Given the description of an element on the screen output the (x, y) to click on. 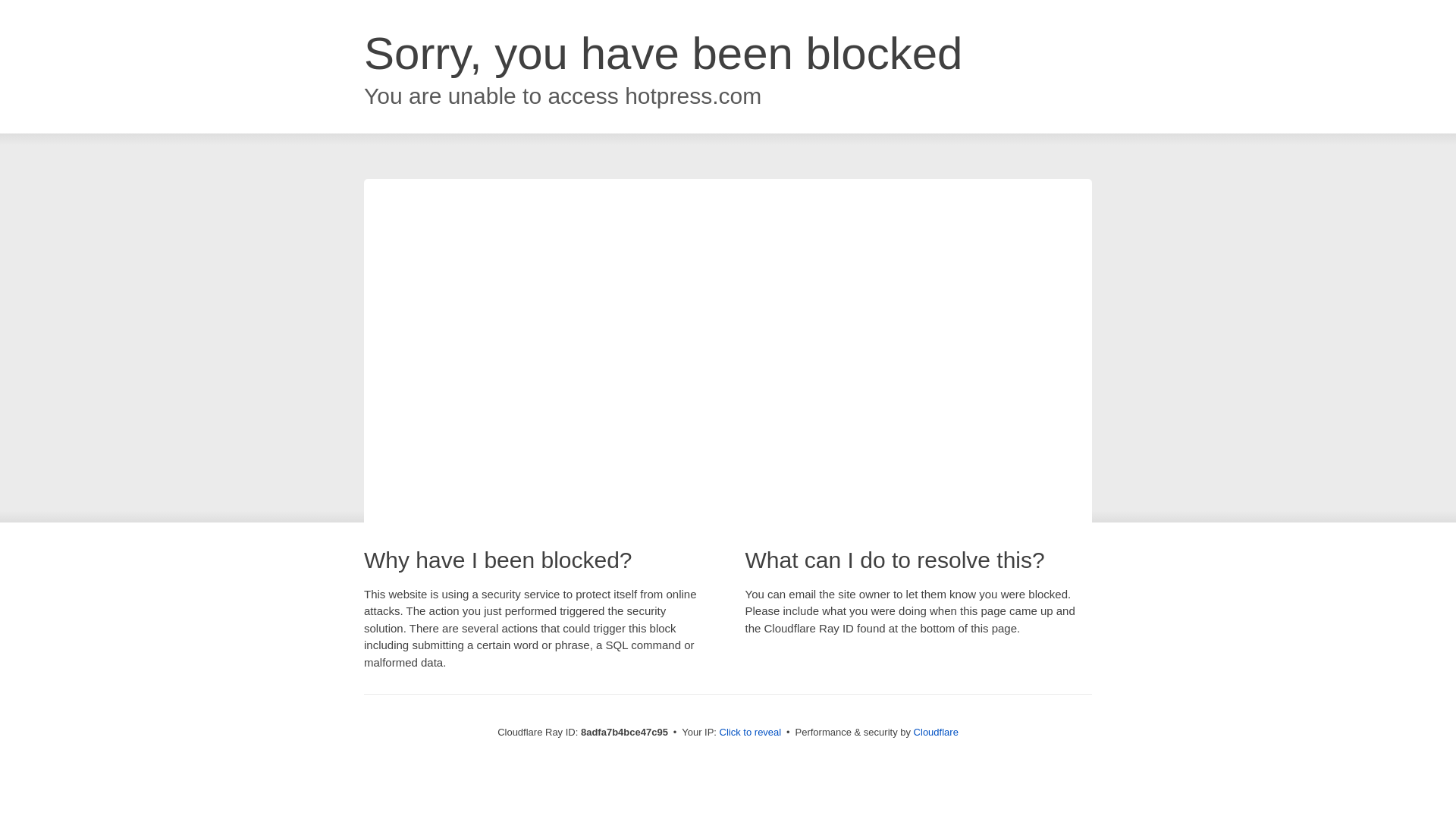
Cloudflare (936, 731)
Click to reveal (750, 732)
